Given the description of an element on the screen output the (x, y) to click on. 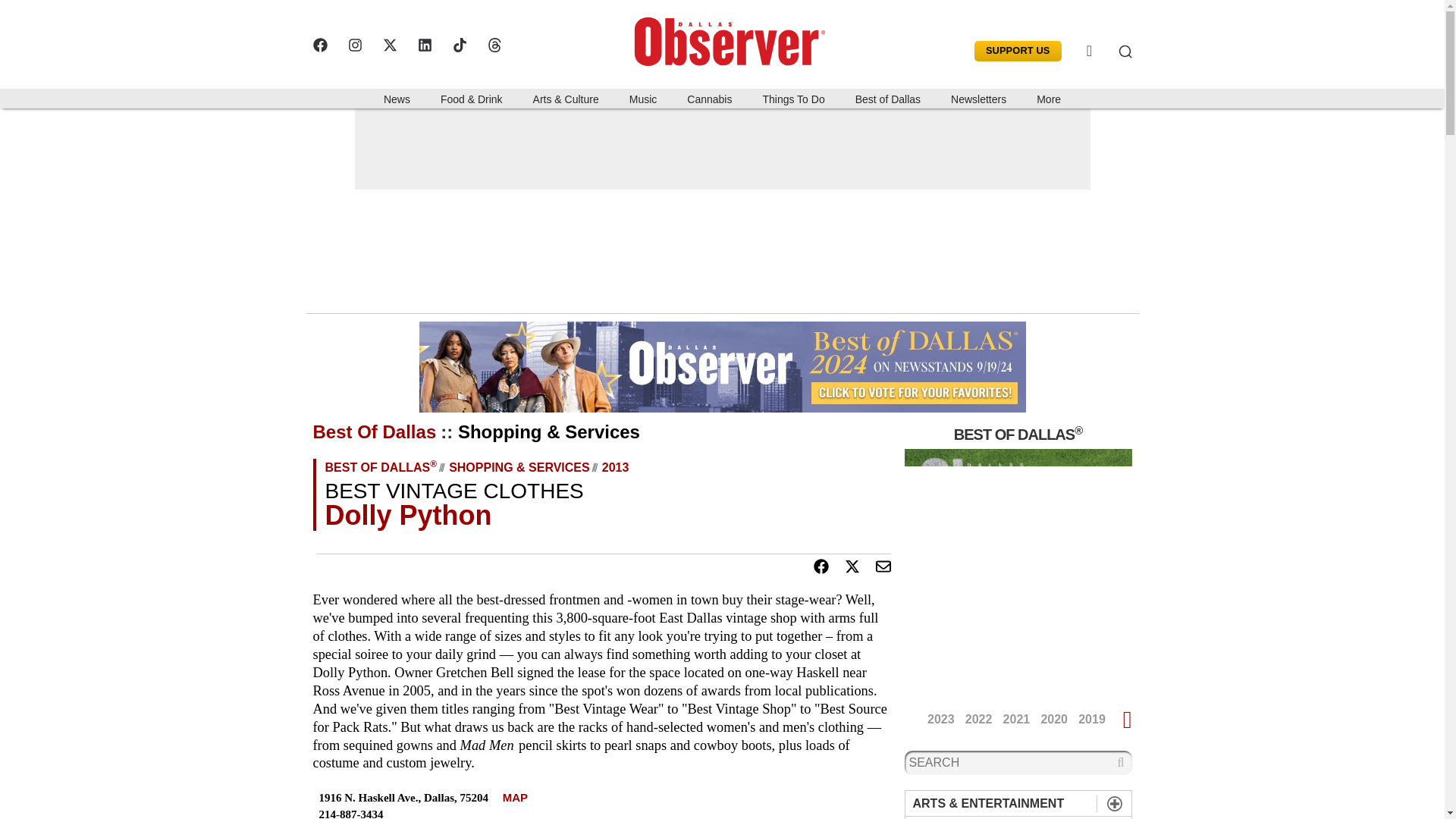
threads (493, 44)
Search (1113, 51)
SUPPORT US (1017, 50)
linkedin (423, 44)
twitter (388, 44)
Dallas Observer (731, 38)
facebook (319, 44)
News (396, 98)
instagram (354, 44)
tiktok (458, 44)
